Given the description of an element on the screen output the (x, y) to click on. 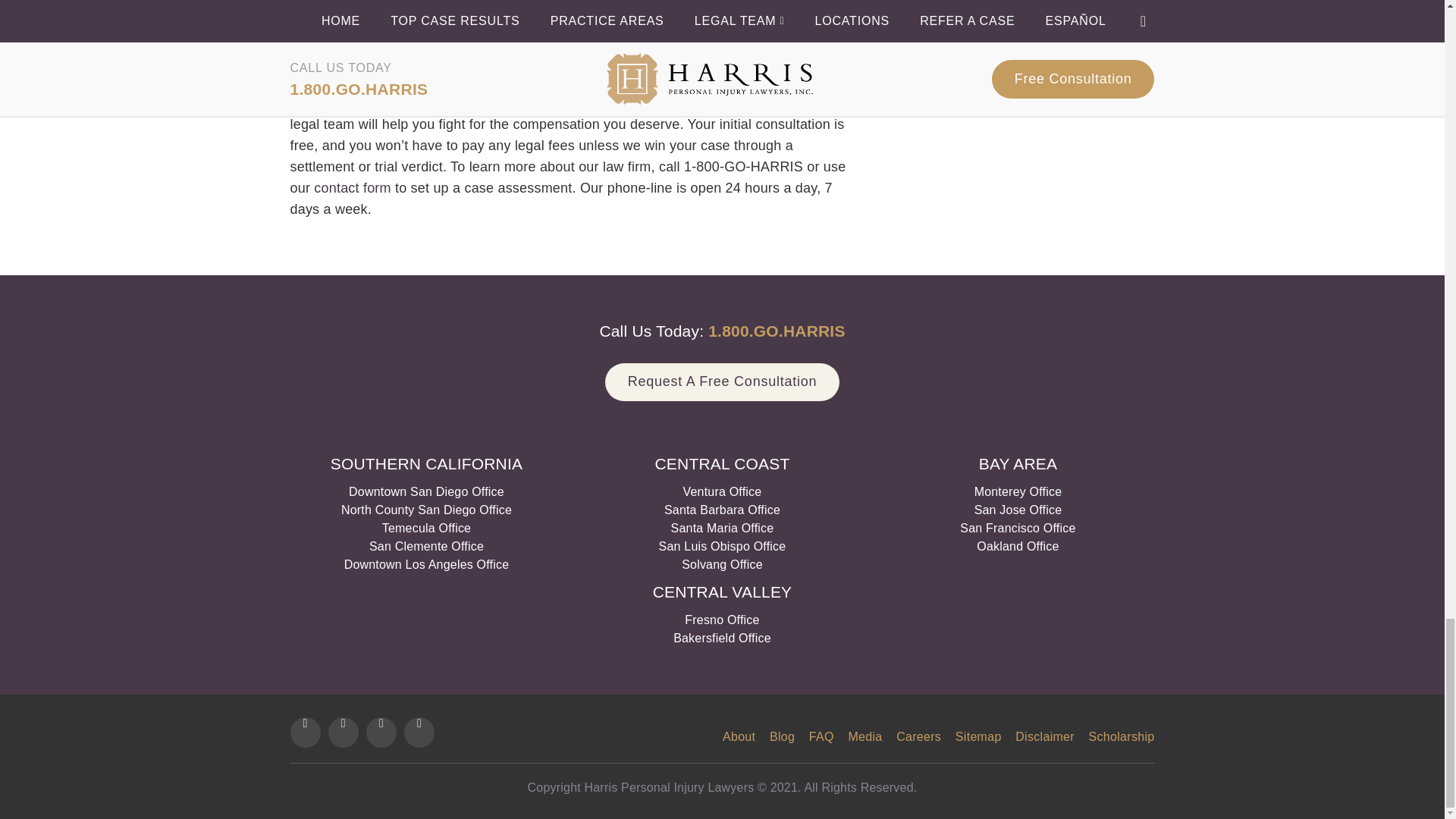
San Clemente Office (426, 545)
Downtown San Diego Office (426, 490)
North County San Diego Office (426, 509)
1.800.GO.HARRIS (775, 330)
Temecula Office (425, 527)
 contact form (350, 186)
Request A Free Consultation (722, 382)
